Given the description of an element on the screen output the (x, y) to click on. 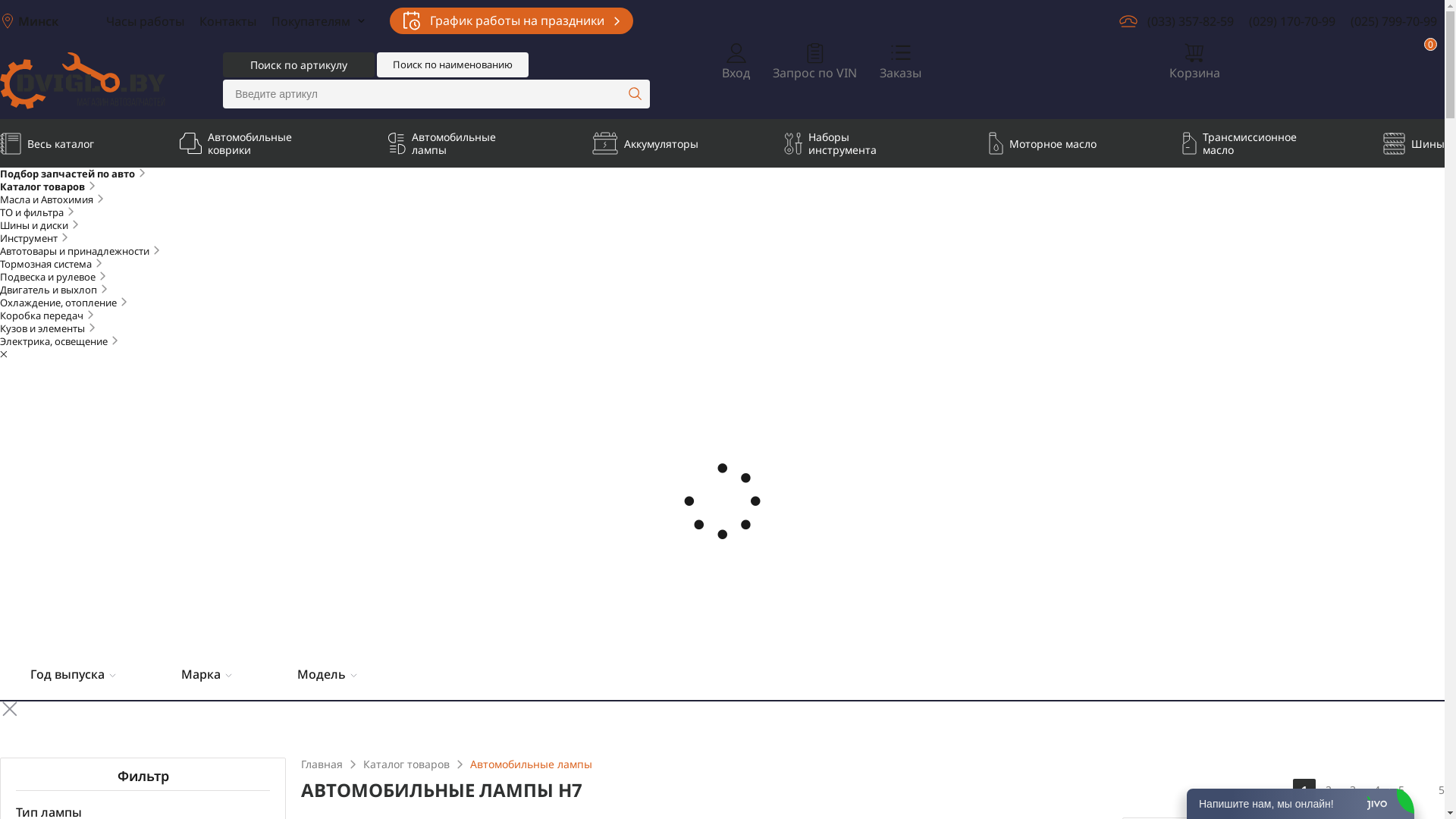
3 Element type: text (1352, 789)
(033) 357-82-59 Element type: text (1190, 21)
(029) 170-70-99 Element type: text (1292, 21)
5 Element type: text (1401, 789)
2 Element type: text (1328, 789)
4 Element type: text (1376, 789)
(025) 799-70-99 Element type: text (1393, 21)
